Given the description of an element on the screen output the (x, y) to click on. 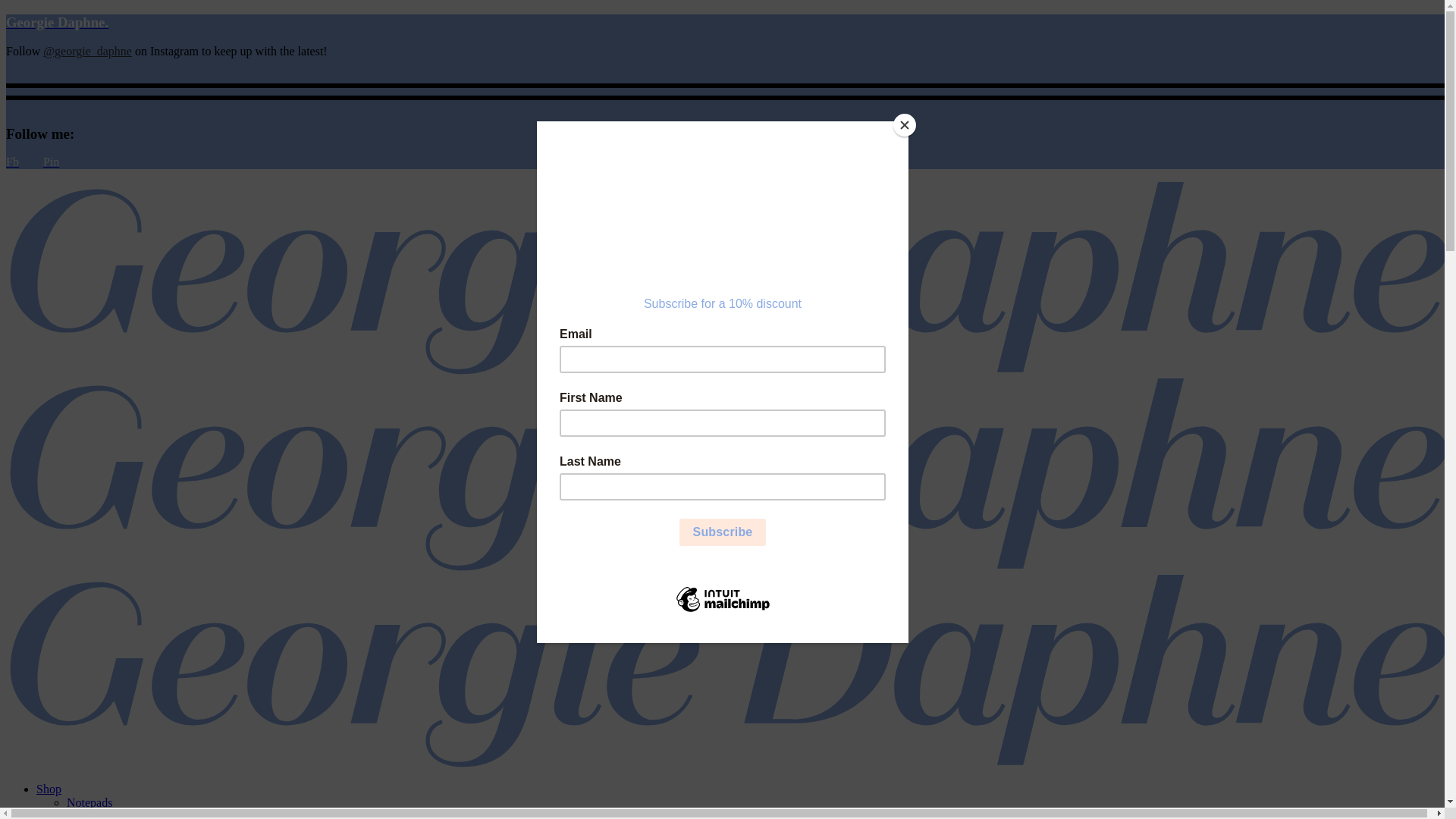
Fb Element type: text (12, 161)
Pin Element type: text (51, 161)
Shop Element type: text (48, 788)
Georgie Daphne. Element type: text (57, 22)
@georgie_daphne Element type: text (87, 50)
Notepads Element type: text (89, 802)
